Given the description of an element on the screen output the (x, y) to click on. 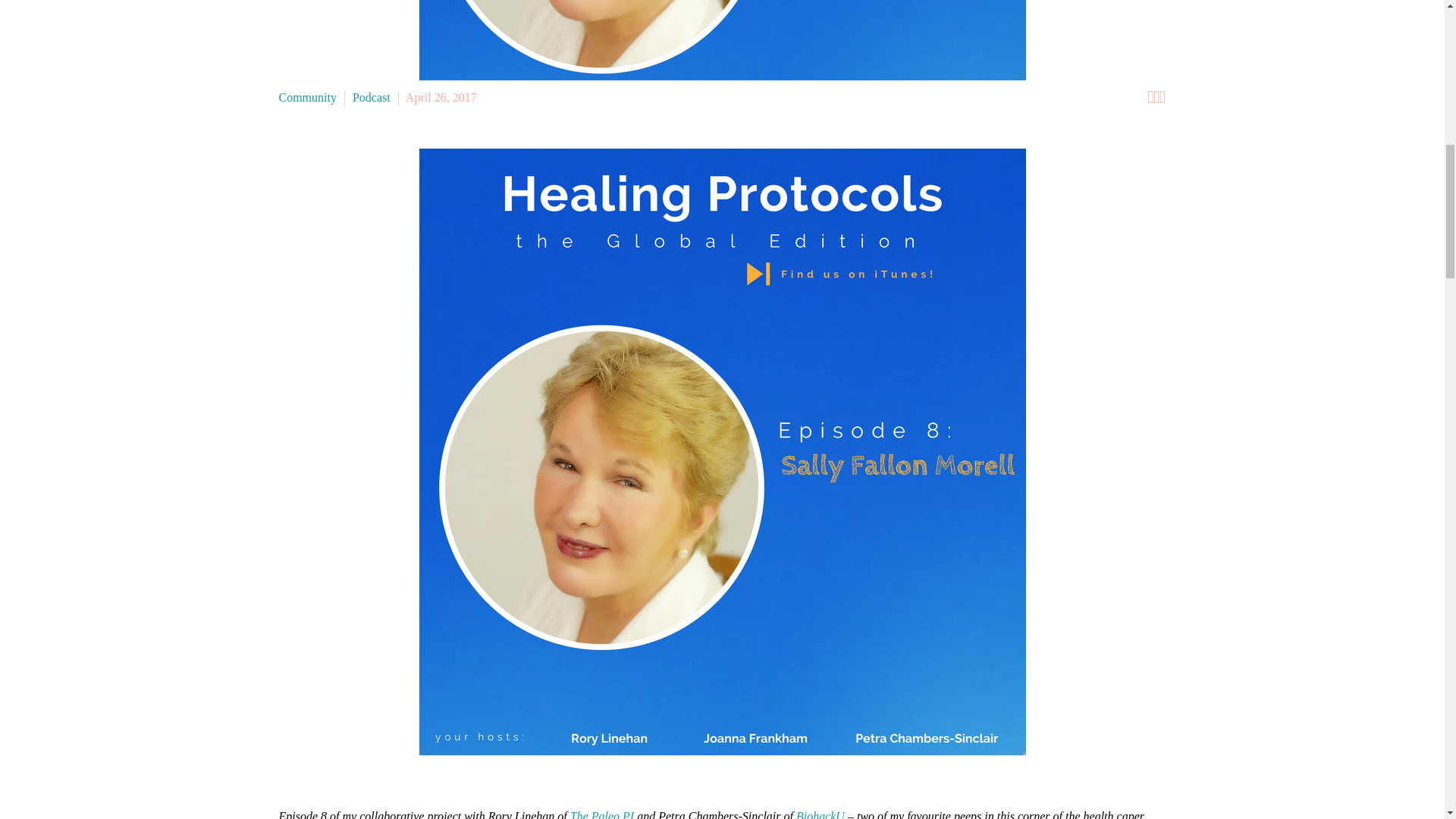
Podcast (371, 97)
View all posts in Podcast (371, 97)
Community (307, 97)
View all posts in Community (307, 97)
The Paleo PI (601, 814)
BiohackU (820, 814)
